Given the description of an element on the screen output the (x, y) to click on. 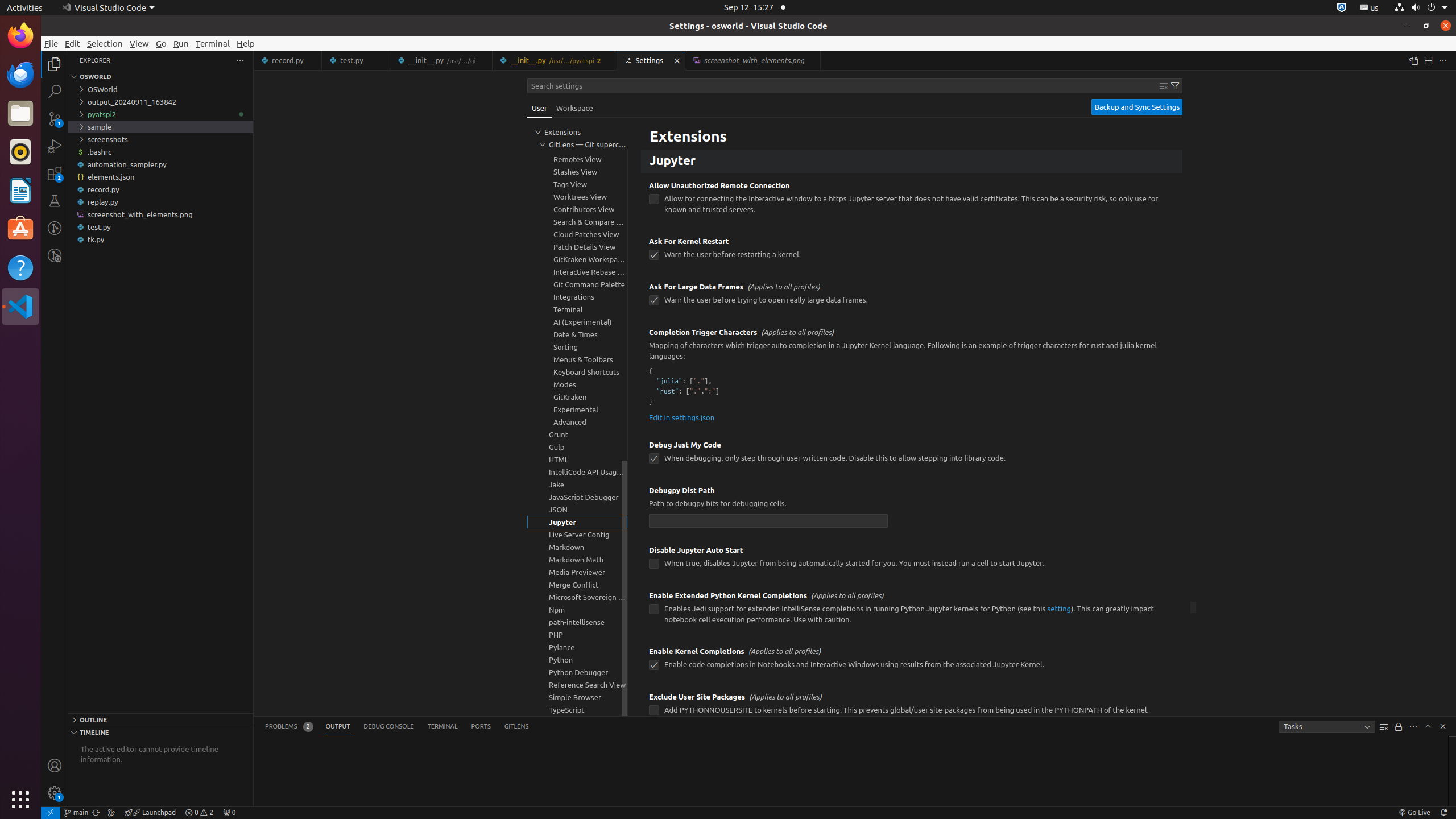
PHP, group Element type: tree-item (577, 634)
Jupyter Element type: tree-item (911, 161)
.bashrc Element type: tree-item (160, 151)
pyatspi2 Element type: tree-item (160, 114)
GitKraken Workspaces View, group Element type: tree-item (577, 259)
